Given the description of an element on the screen output the (x, y) to click on. 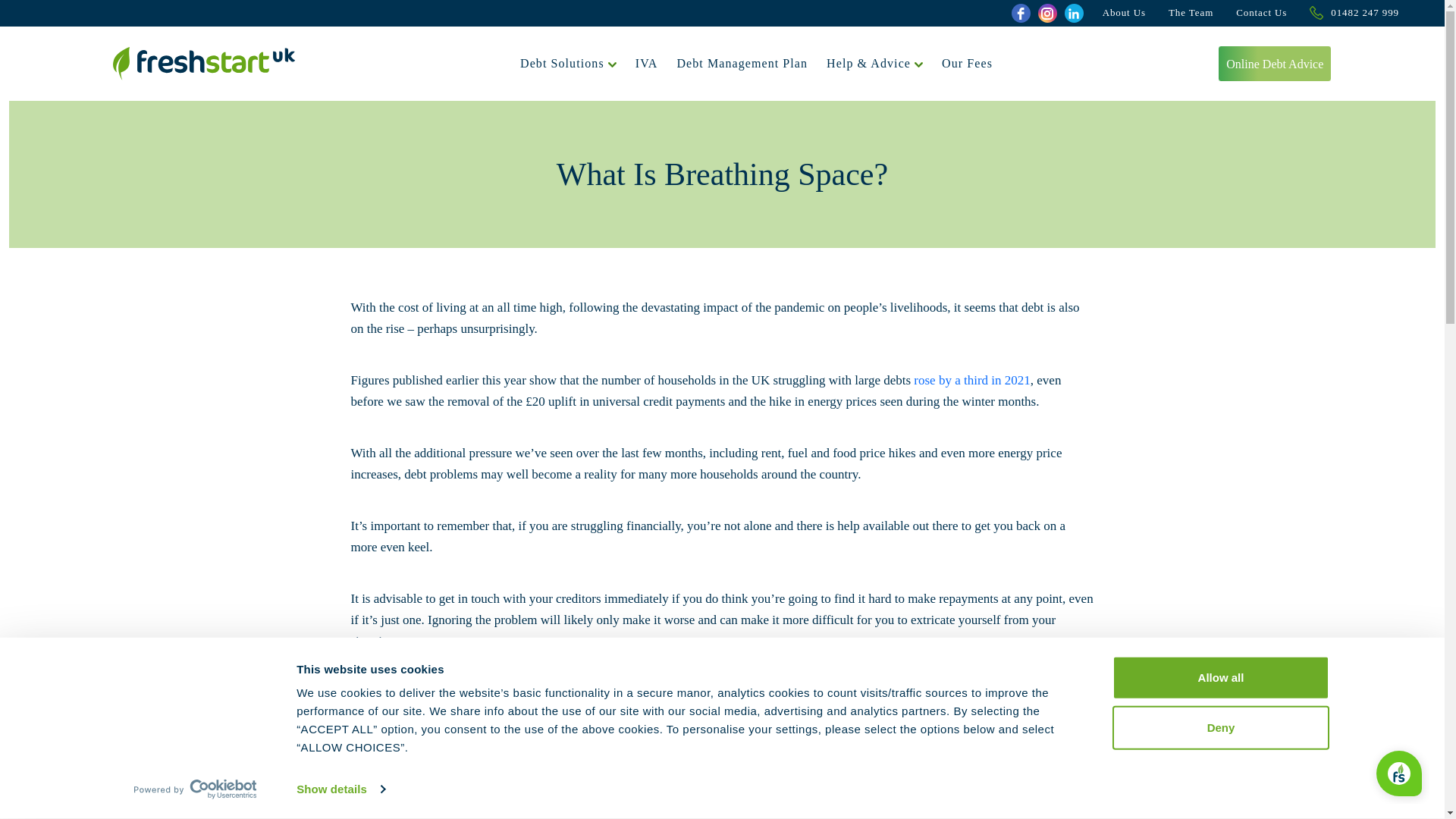
Deny (1219, 727)
Show details (340, 789)
About Us (1123, 13)
Facebook (1020, 13)
LinkedIn (1073, 13)
The Team (1190, 13)
Allow all (1219, 678)
Contact Us (1261, 13)
Instagram (1047, 13)
